Given the description of an element on the screen output the (x, y) to click on. 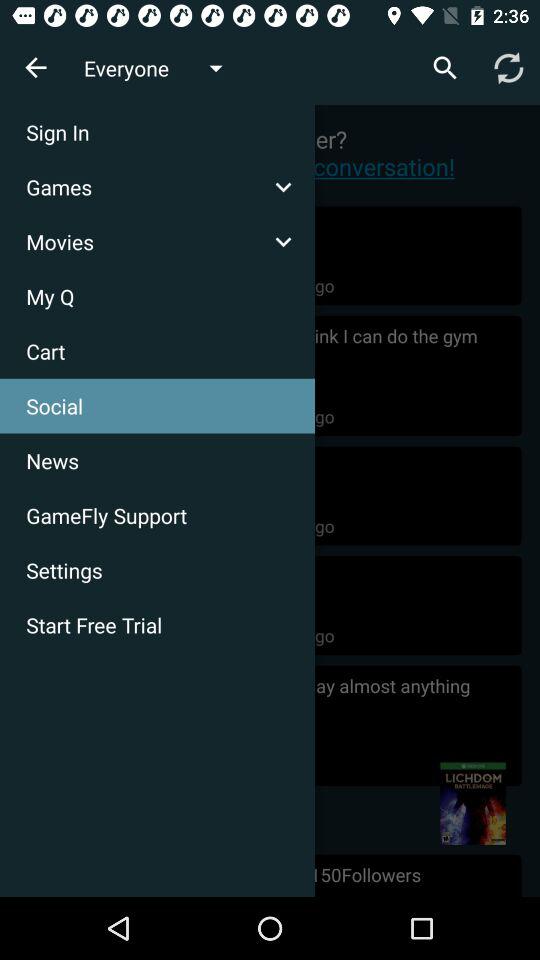
click on the icon beside search icon (508, 68)
